Given the description of an element on the screen output the (x, y) to click on. 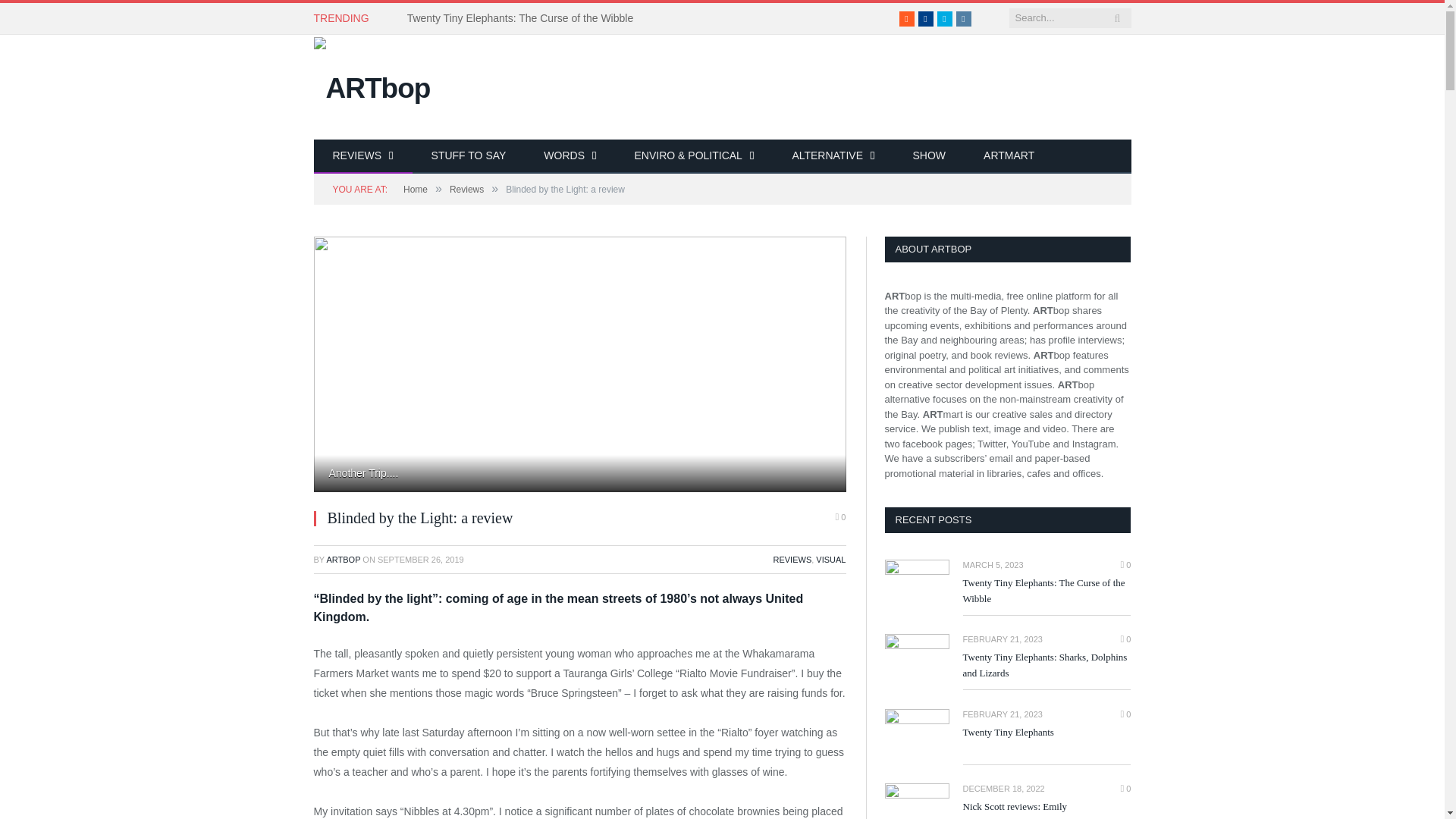
Twenty Tiny Elephants: The Curse of the Wibble (524, 18)
WORDS (569, 156)
Facebook (925, 18)
STUFF TO SAY (468, 156)
Instagram (963, 18)
REVIEWS (363, 156)
RSS (906, 18)
ARTbop (372, 85)
RSS (906, 18)
Twitter (944, 18)
